Given the description of an element on the screen output the (x, y) to click on. 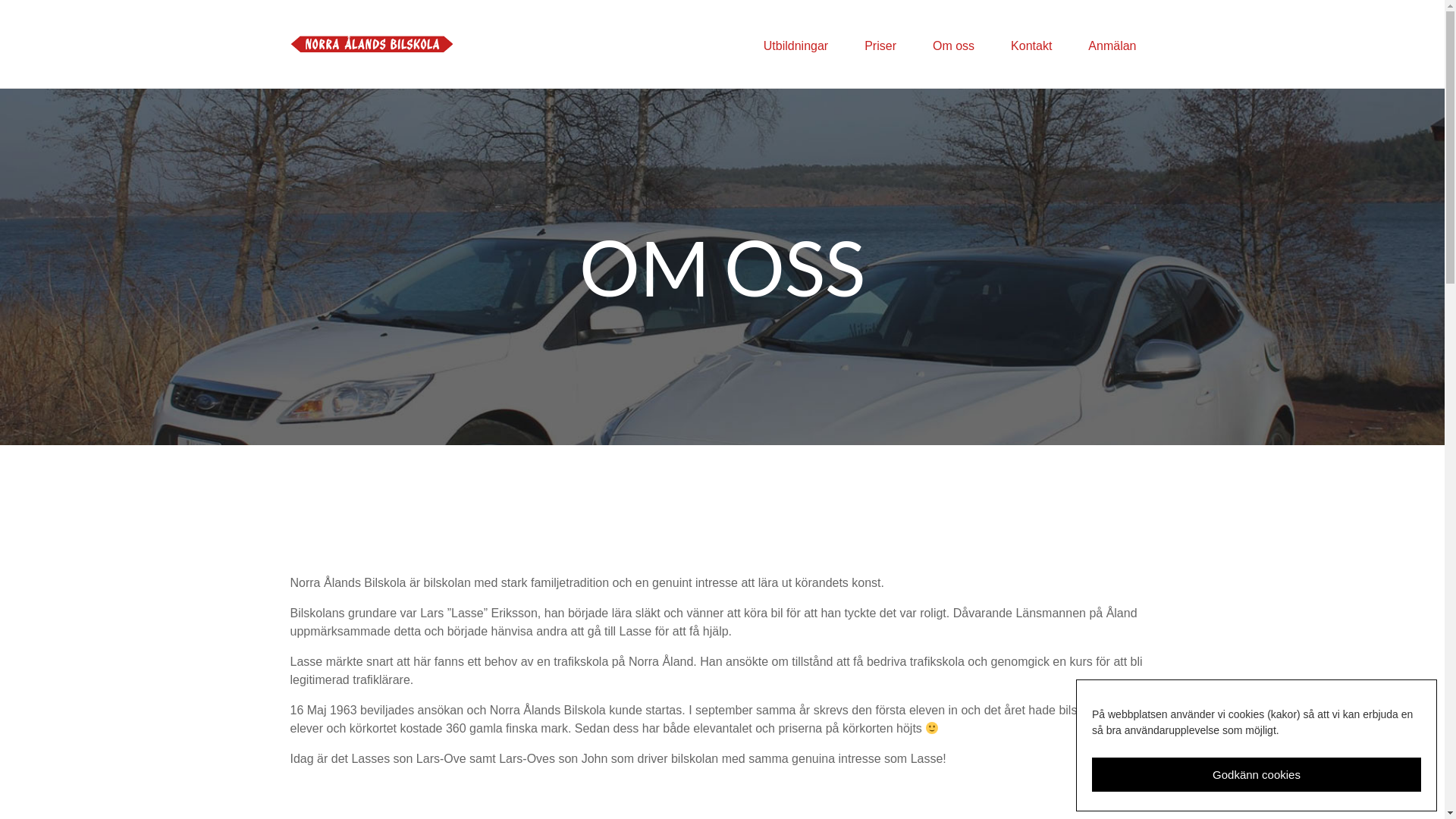
Priser Element type: text (880, 45)
Utbildningar Element type: text (795, 45)
Kontakt Element type: text (1031, 45)
Om oss Element type: text (953, 45)
